Given the description of an element on the screen output the (x, y) to click on. 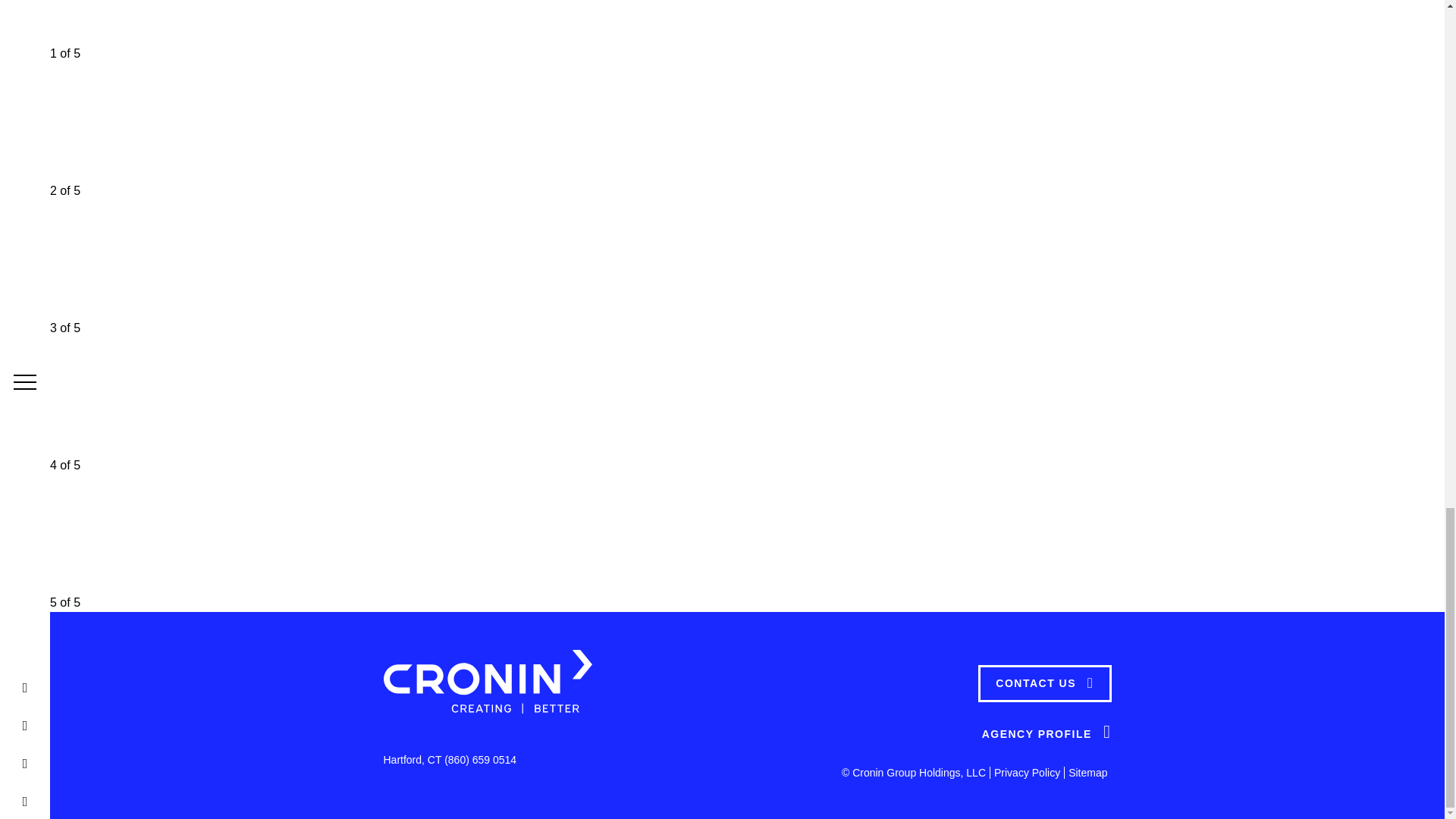
Privacy Policy (1026, 772)
AGENCY PROFILE (1046, 733)
Sitemap (1087, 772)
CONTACT US (1044, 683)
